Given the description of an element on the screen output the (x, y) to click on. 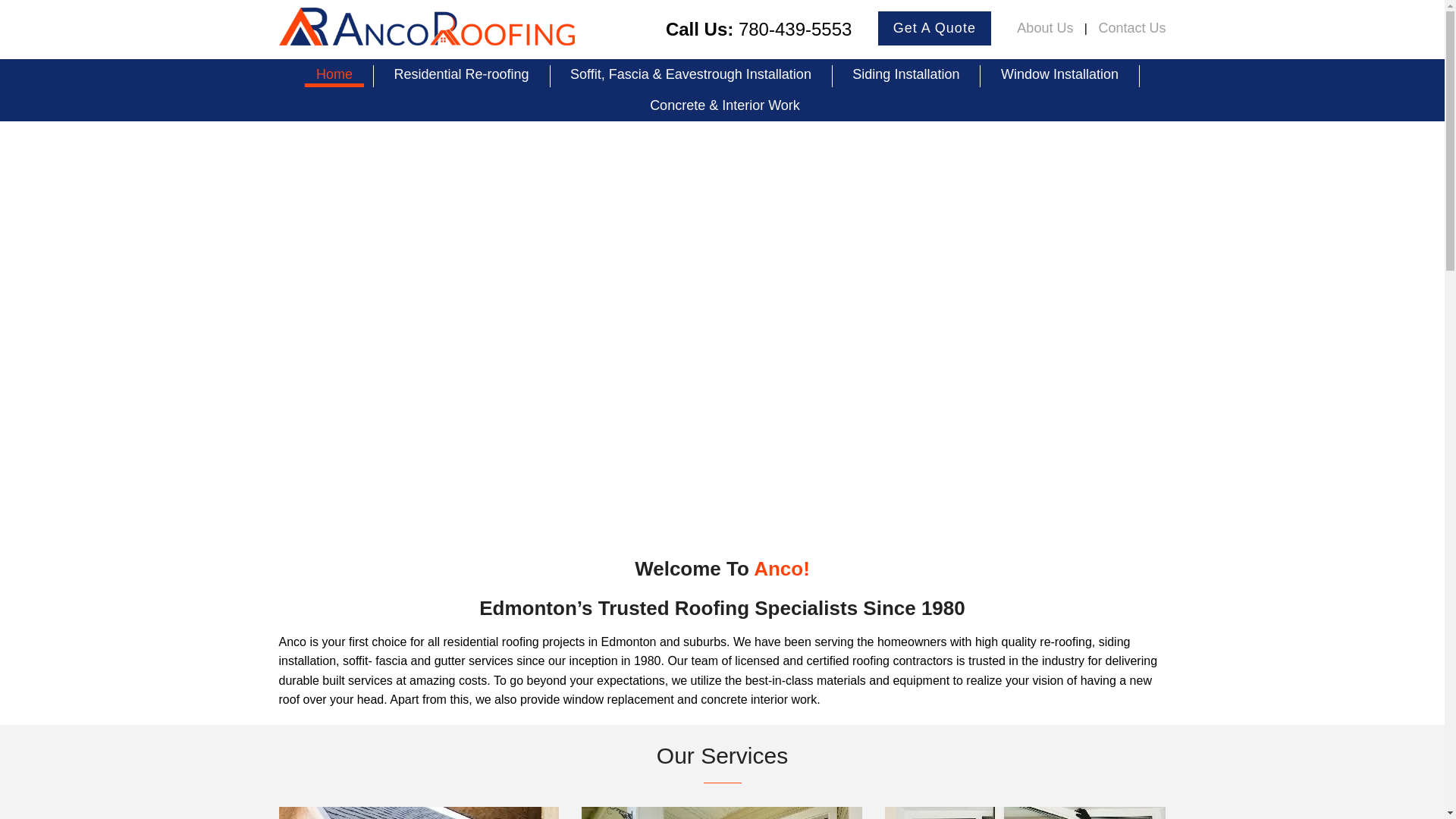
Home (334, 75)
Window Installation (1059, 75)
About Us (1044, 28)
Residential Re-roofing (460, 75)
780-439-5553 (794, 29)
Get A Quote (934, 28)
Window Installation (1025, 812)
Contact Us (1128, 28)
Residential Re-roofing (419, 812)
Siding Installation (906, 75)
